Given the description of an element on the screen output the (x, y) to click on. 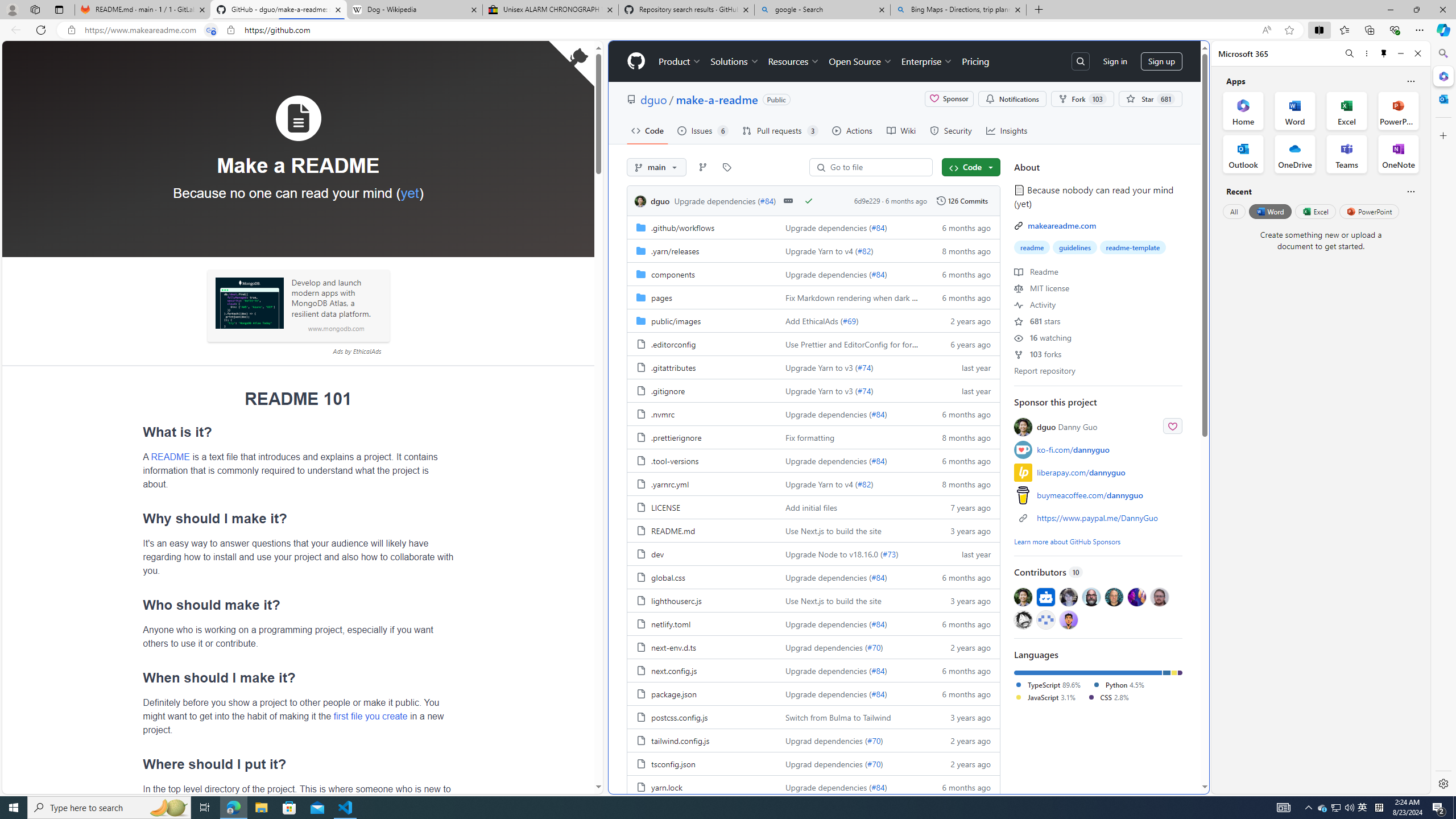
 MIT license (1041, 287)
AutomationID: folder-row-4 (813, 320)
Sponsor dguo/make-a-readme (949, 98)
@davidak (1068, 596)
AutomationID: folder-row-10 (813, 459)
JavaScript3.1% (1049, 697)
README.md, (File) (672, 530)
.gitignore, (File) (667, 390)
Pull requests 3 (781, 130)
tsconfig.json, (File) (672, 763)
netlify.toml, (File) (701, 623)
postcss.config.js, (File) (701, 716)
Unpin side pane (1383, 53)
